Given the description of an element on the screen output the (x, y) to click on. 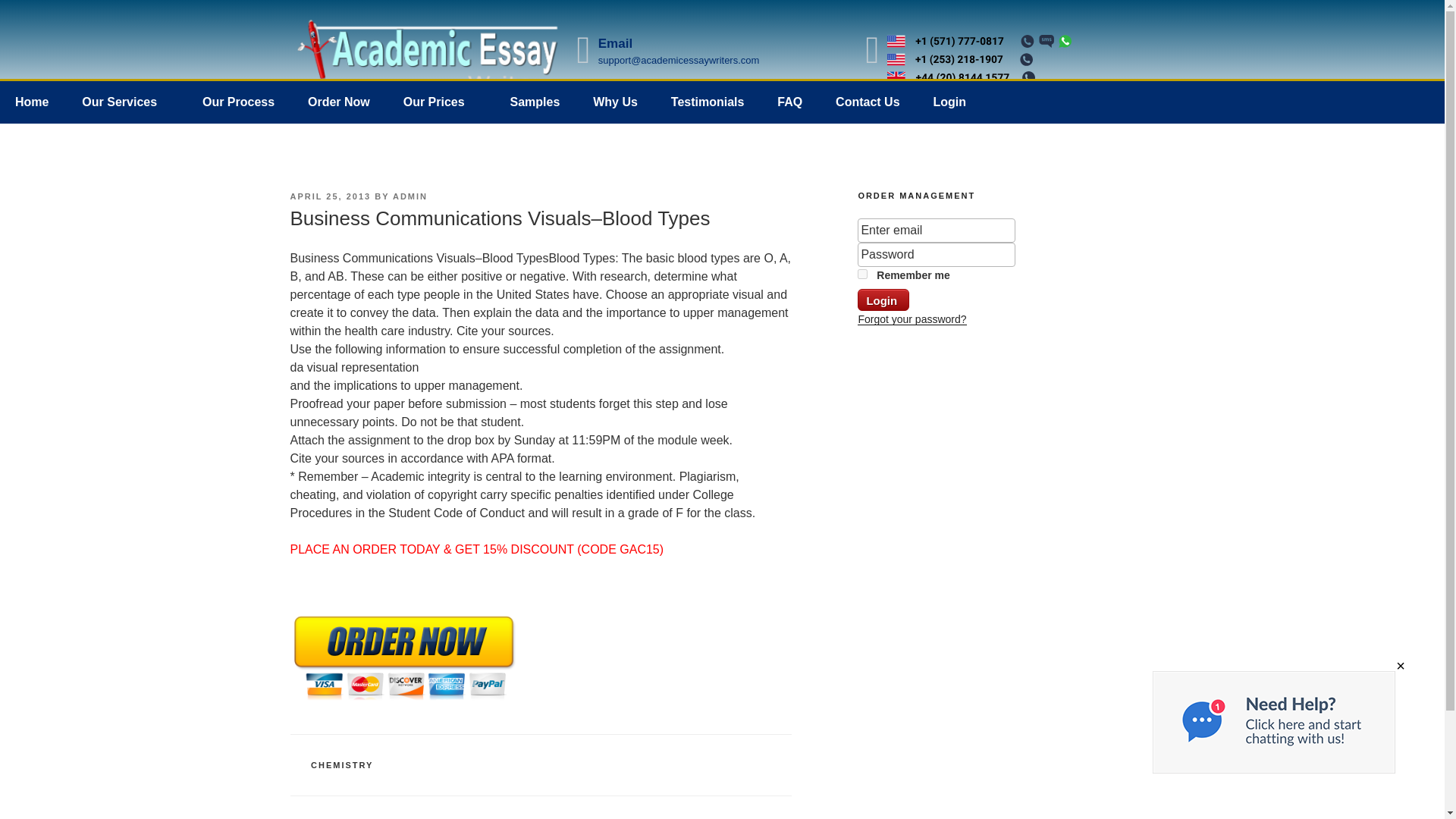
Why Us (615, 102)
Contact Us (867, 102)
Order Now (338, 102)
APRIL 25, 2013 (330, 195)
Login (949, 102)
Our Prices (440, 102)
Our Process (238, 102)
ADMIN (410, 195)
Forgot your password? (911, 318)
CHEMISTRY (341, 764)
